Given the description of an element on the screen output the (x, y) to click on. 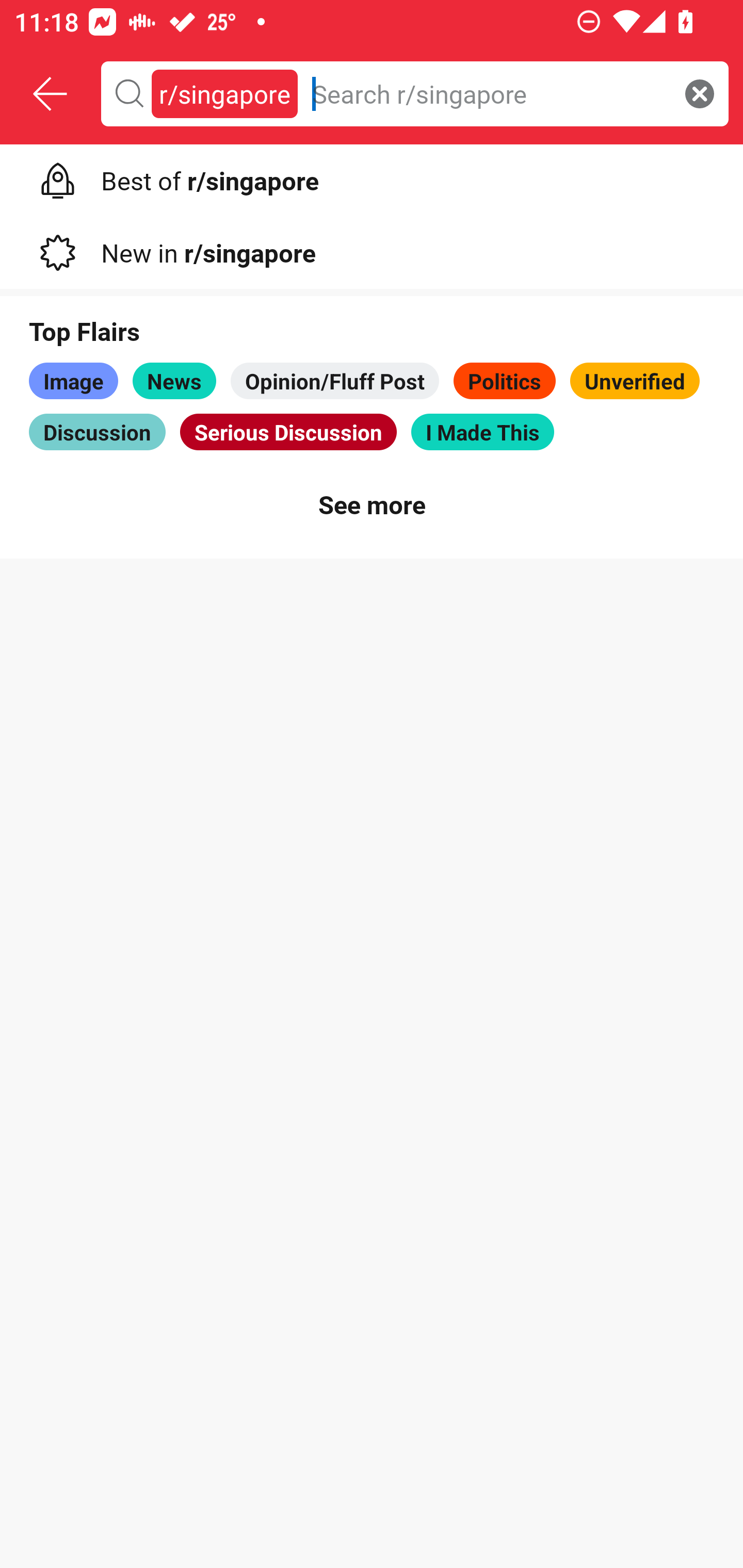
Back (50, 93)
Search r/singapore (487, 93)
Clear search (699, 93)
r/singapore (224, 92)
Best of  r/singapore (371, 177)
New in  r/singapore (371, 249)
See more (371, 503)
